Given the description of an element on the screen output the (x, y) to click on. 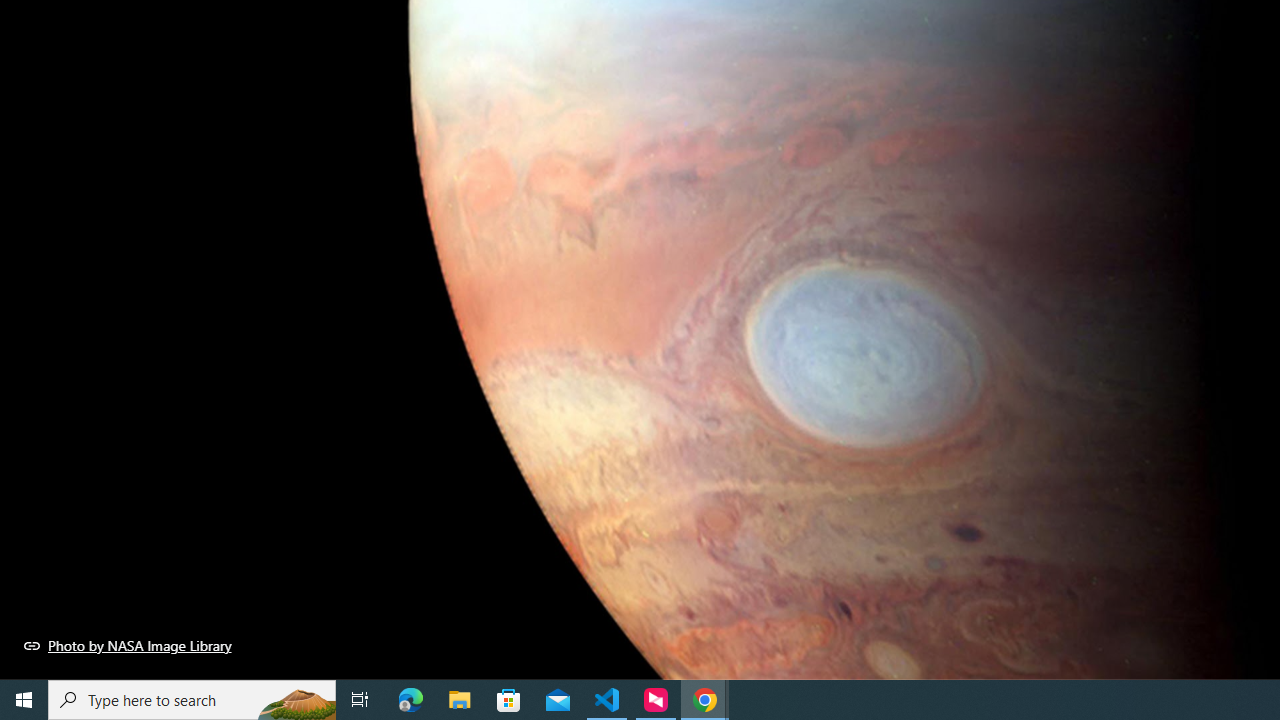
Photo by NASA Image Library (127, 645)
